Given the description of an element on the screen output the (x, y) to click on. 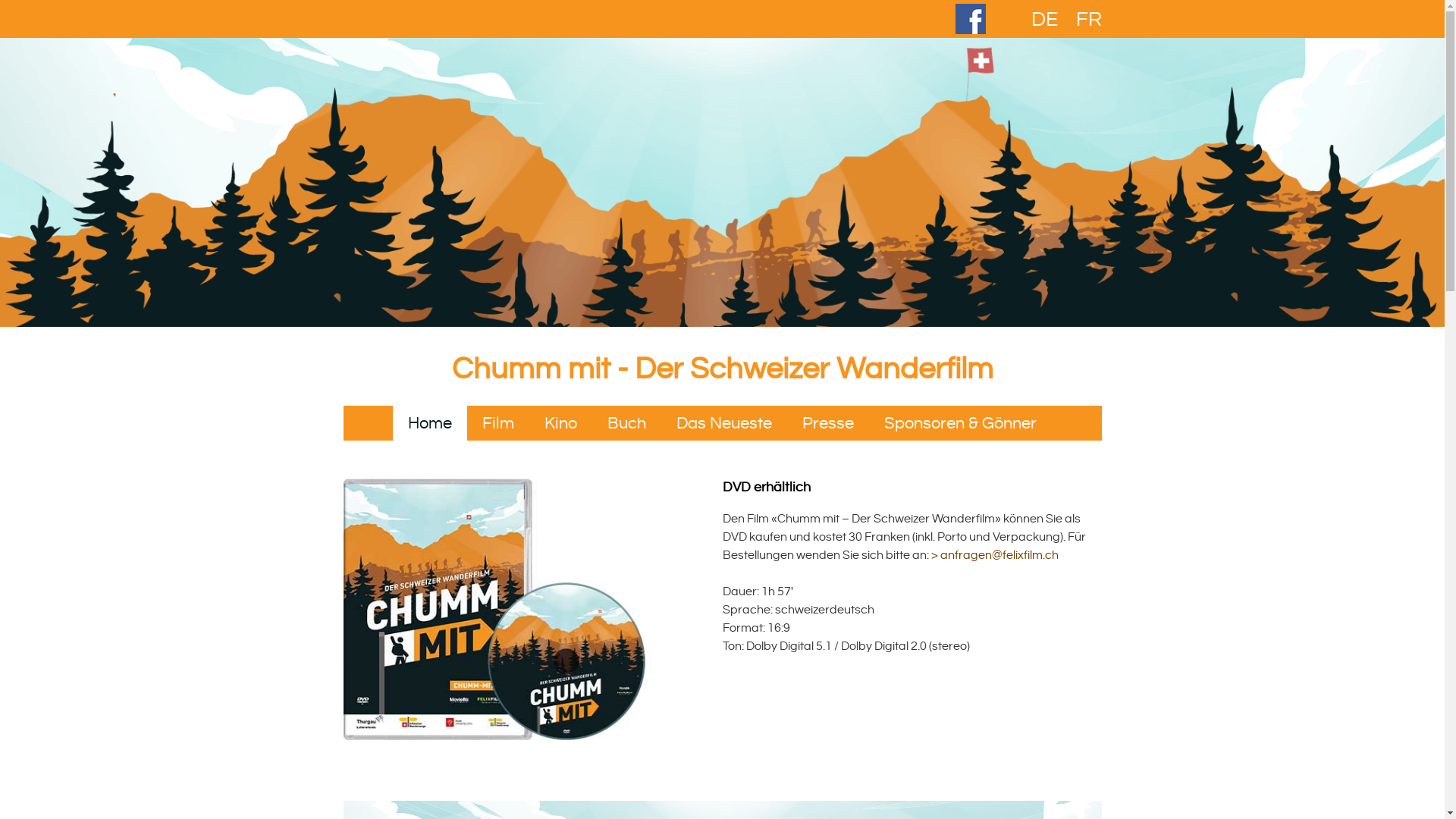
Das Neueste Element type: text (724, 423)
Buch Element type: text (626, 423)
DE Element type: text (1044, 19)
Presse Element type: text (828, 423)
FR Element type: text (1088, 19)
Film Element type: text (498, 423)
Home Element type: text (429, 423)
> anfragen@felixfilm.ch Element type: text (994, 555)
Externer Link Element type: hover (969, 30)
Kino Element type: text (560, 423)
